Given the description of an element on the screen output the (x, y) to click on. 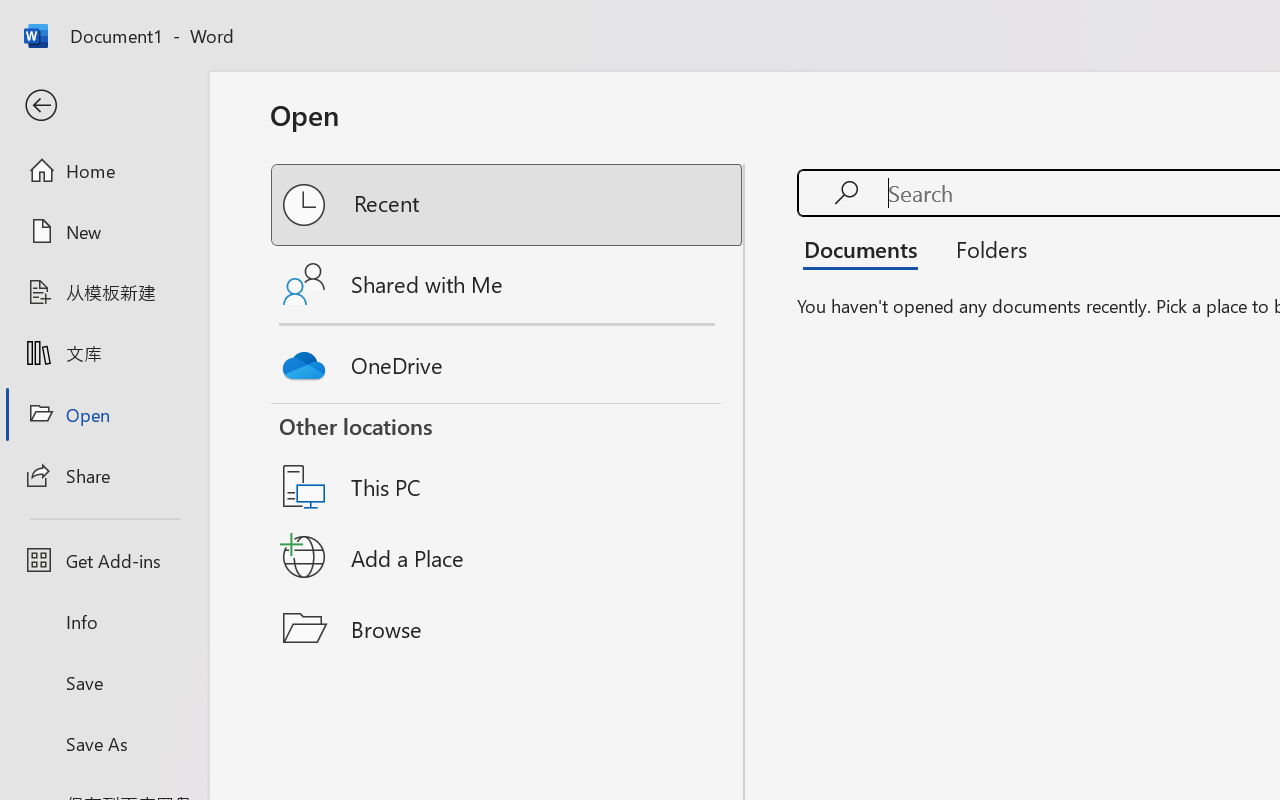
Documents (866, 248)
Add a Place (507, 557)
Folders (984, 248)
Shared with Me (507, 283)
OneDrive (507, 359)
Get Add-ins (104, 560)
Info (104, 621)
Back (104, 106)
New (104, 231)
